Given the description of an element on the screen output the (x, y) to click on. 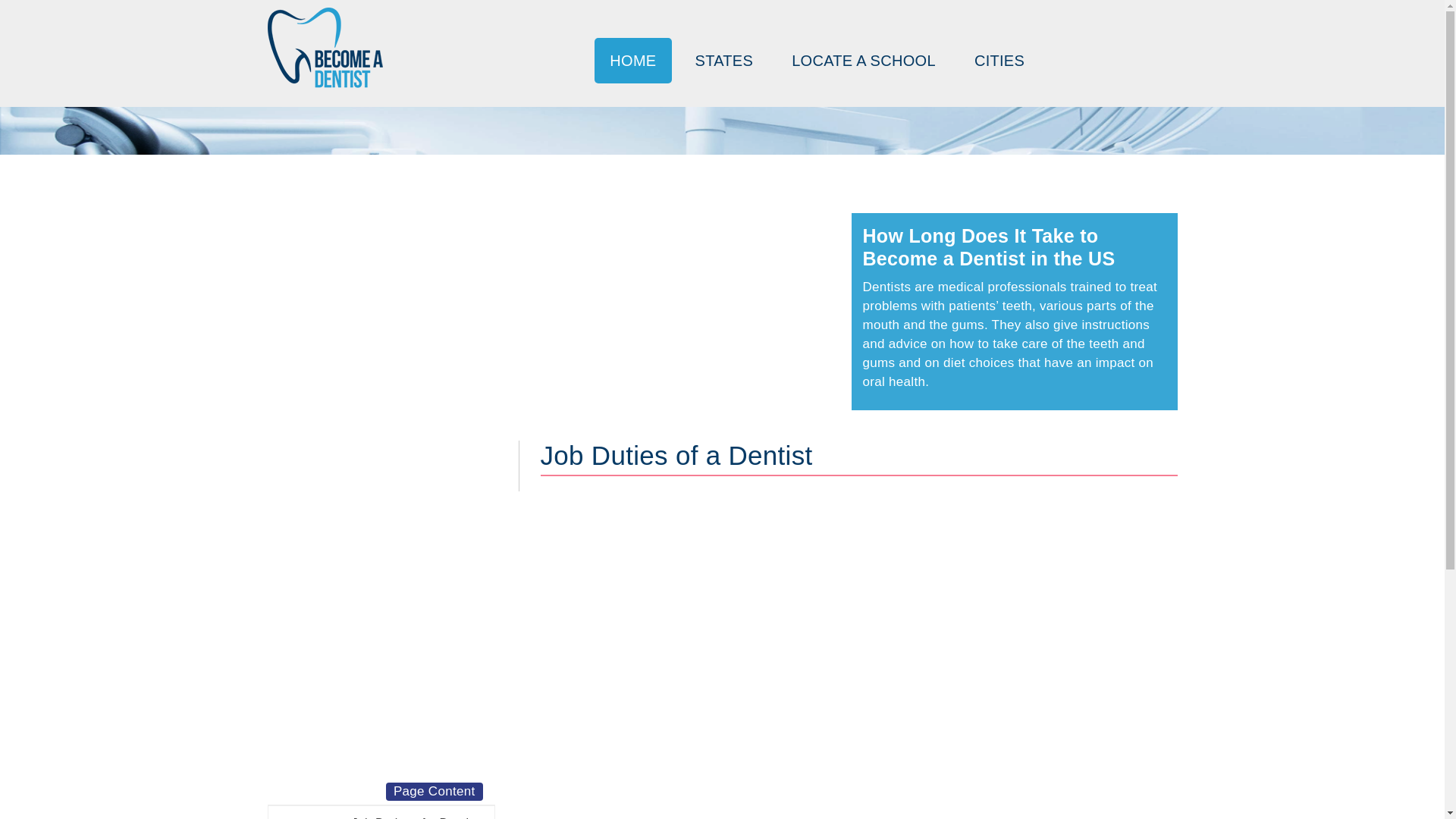
CITIES (999, 60)
STATES (723, 60)
How Long Does It Take To Become A Dentist (323, 47)
HOME (632, 60)
LOCATE A SCHOOL (863, 60)
Job Duties of a Dentist (381, 812)
